Given the description of an element on the screen output the (x, y) to click on. 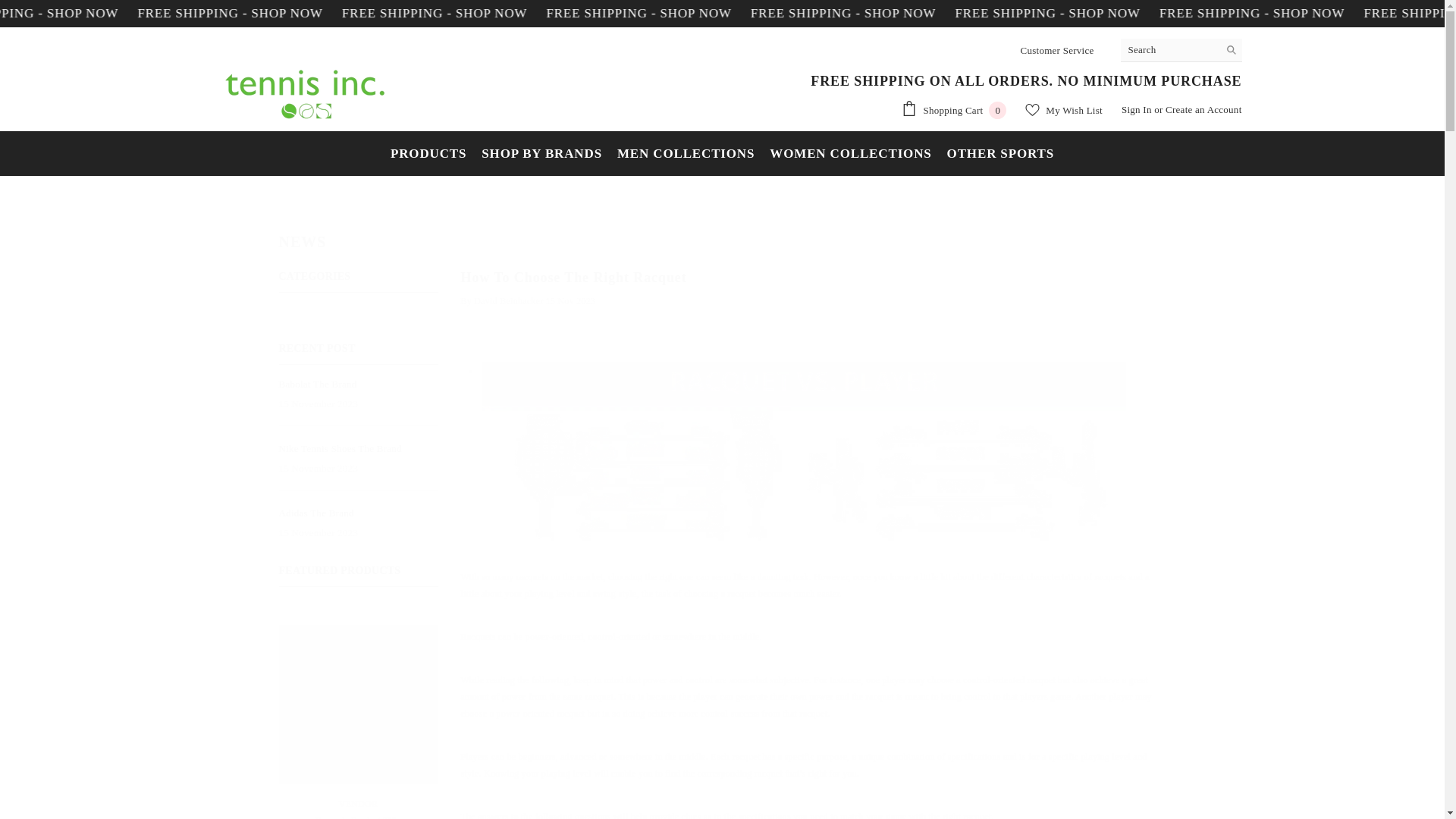
NEWS (144, 13)
SHOP NOW (1156, 13)
PRODUCTS (953, 13)
Sign In (722, 237)
SHOP NOW (953, 109)
My Wish List (760, 13)
SHOP NOW (428, 160)
Example product title (1136, 109)
Create an Account (1166, 13)
SHOP NOW (1063, 110)
